Given the description of an element on the screen output the (x, y) to click on. 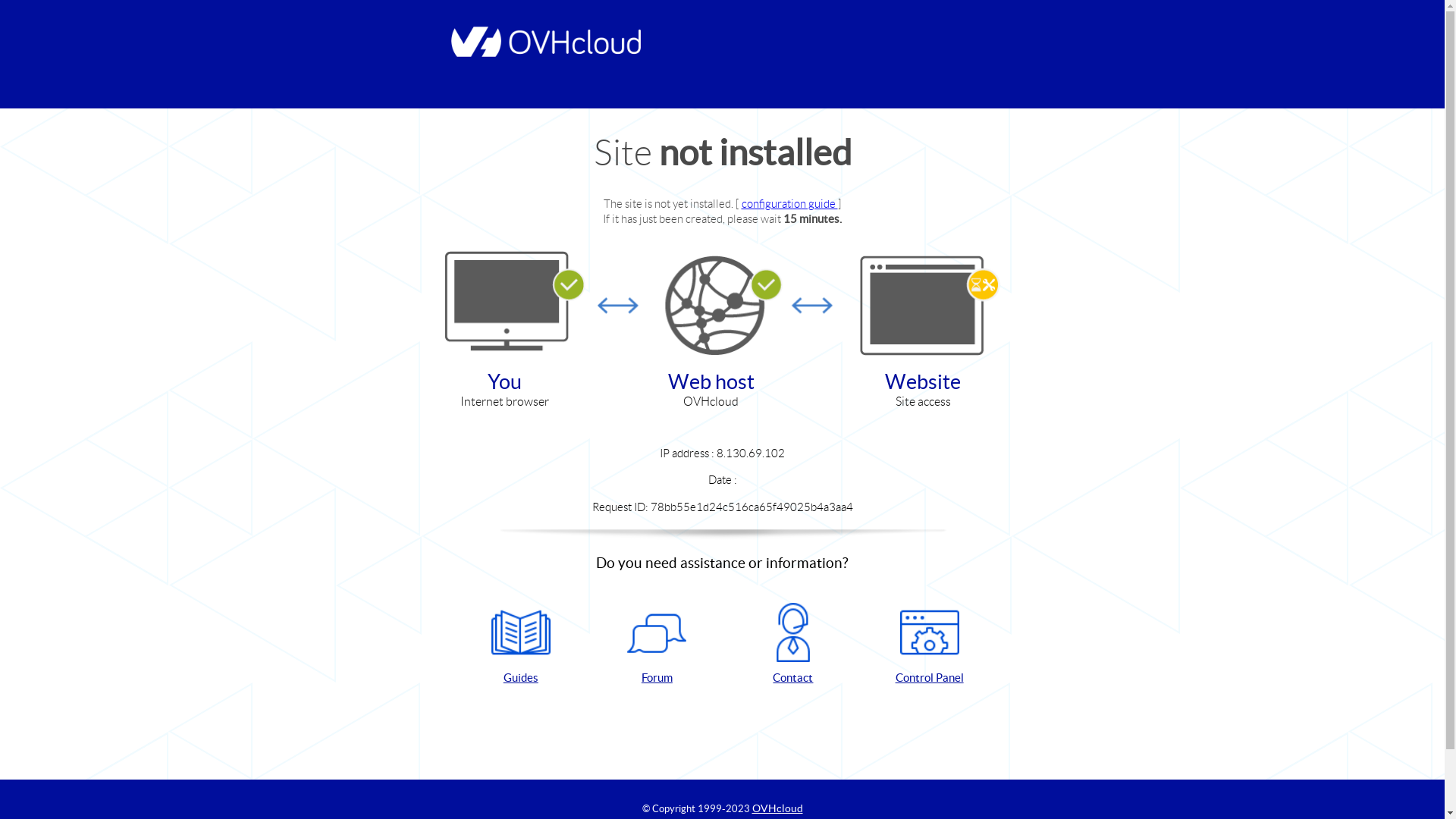
Contact Element type: text (792, 644)
Control Panel Element type: text (929, 644)
Guides Element type: text (520, 644)
OVHcloud Element type: text (777, 808)
configuration guide Element type: text (789, 203)
Forum Element type: text (656, 644)
